Given the description of an element on the screen output the (x, y) to click on. 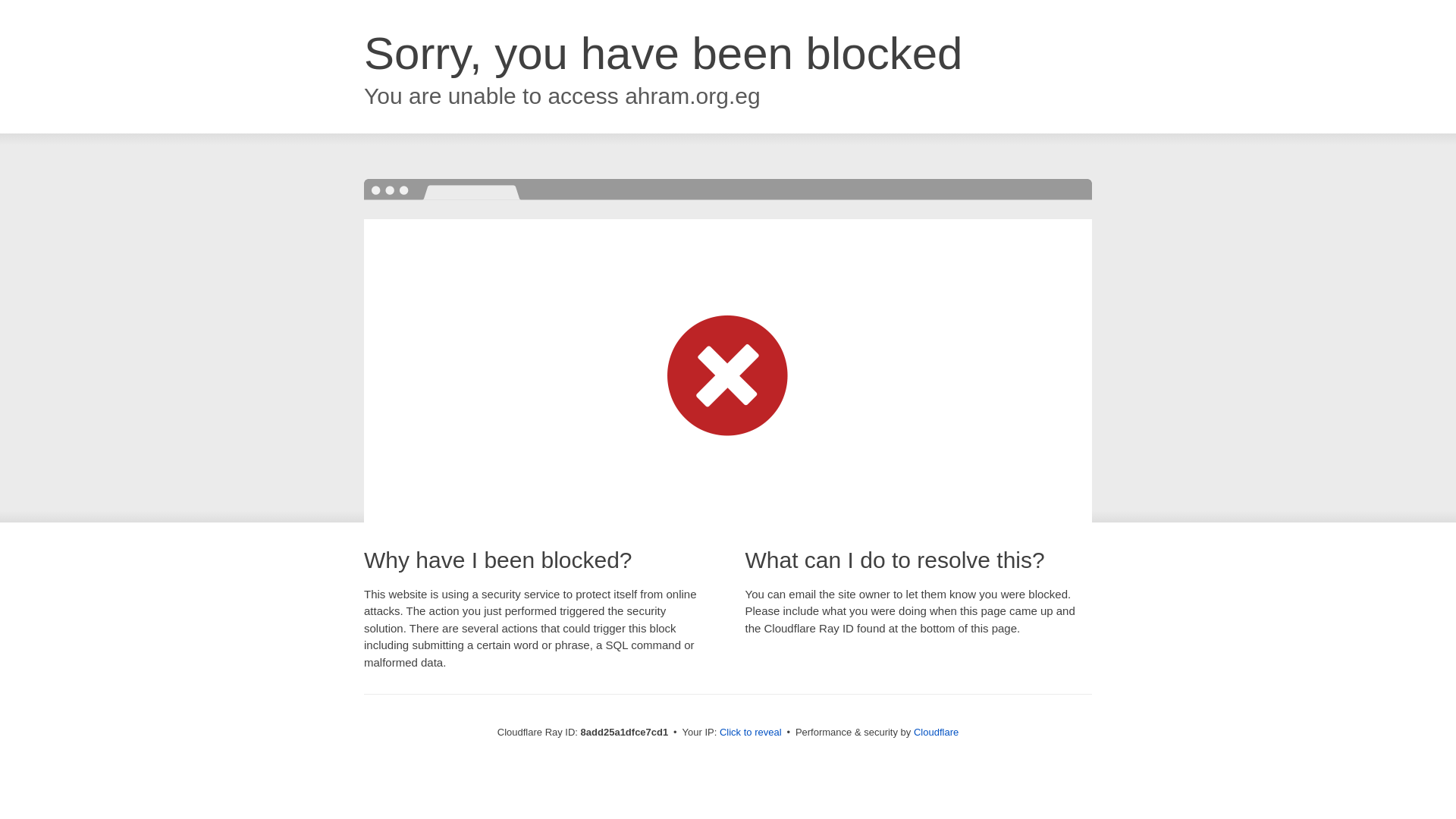
Cloudflare (936, 731)
Click to reveal (750, 732)
